Given the description of an element on the screen output the (x, y) to click on. 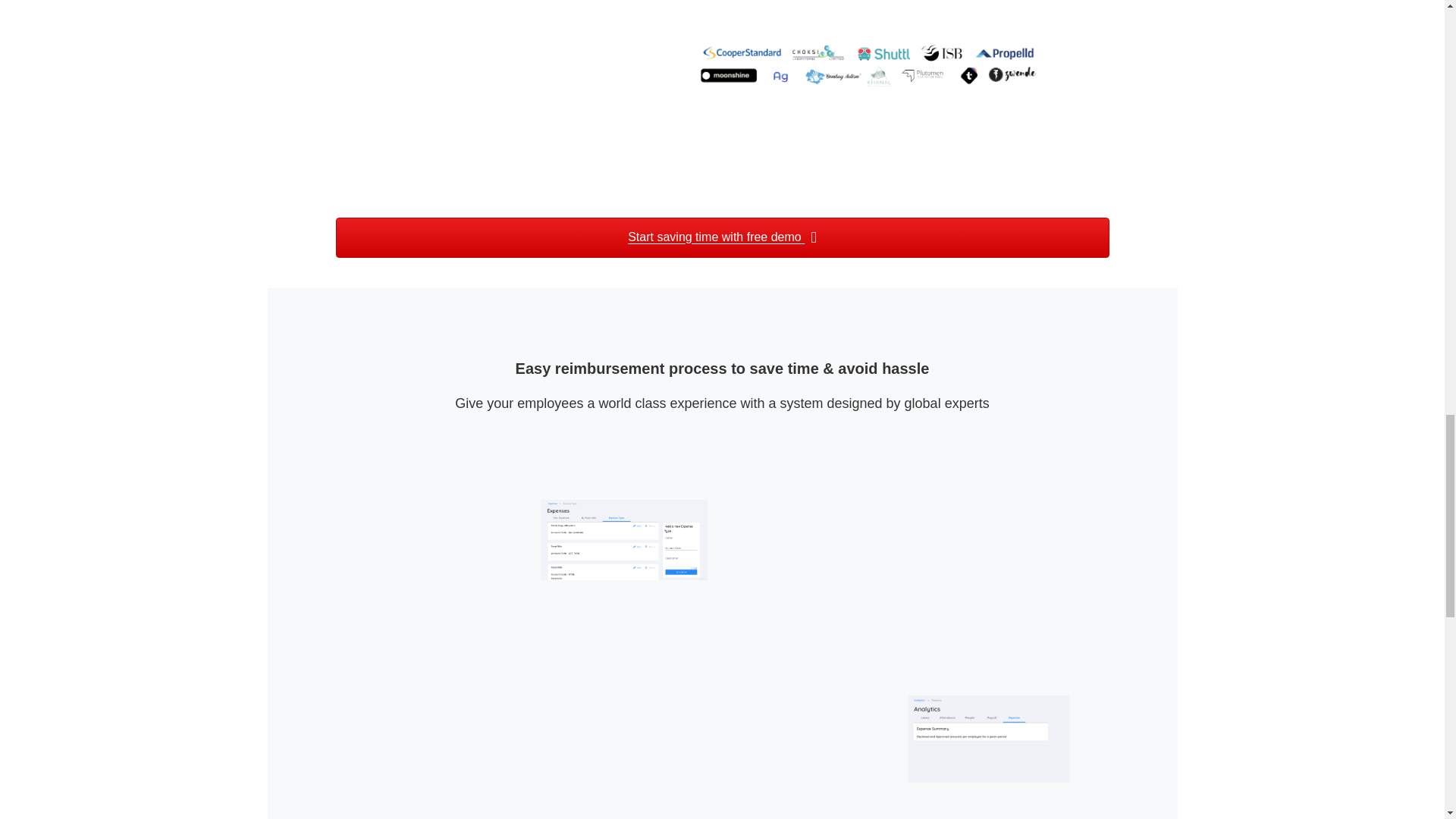
company names performance management system (688, 78)
company names performance management system (867, 78)
Screenshot 29-09-2022 at 01.29 AM (903, 538)
Screenshot 29-09-2022 at 01.32 AM (907, 734)
Screenshot 29-09-2022 at 01.33 AM (544, 734)
Screenshot 29-09-2022 at 01.32 AM (988, 735)
